Given the description of an element on the screen output the (x, y) to click on. 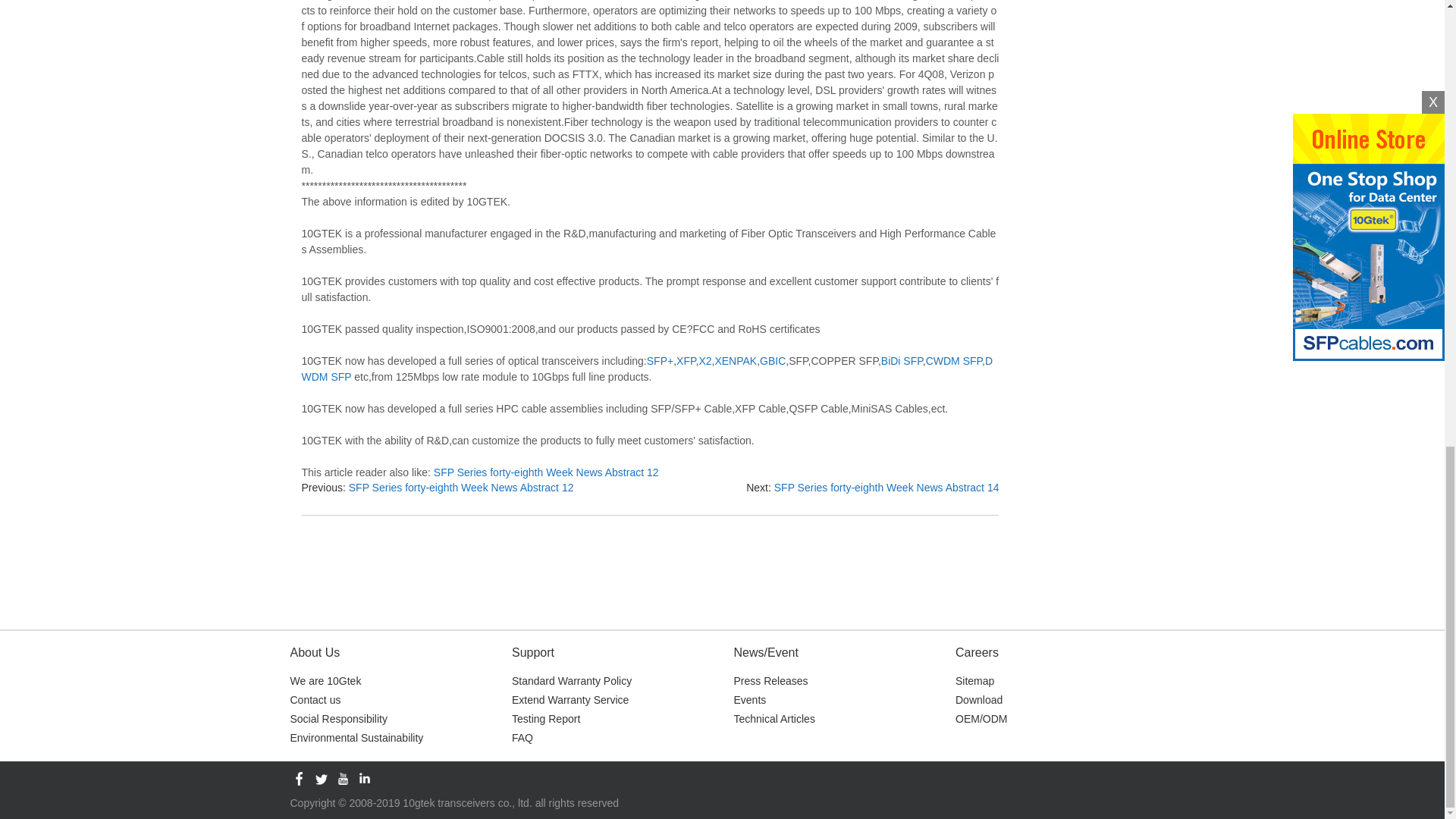
XFP (686, 360)
GBIC (773, 360)
X2 (704, 360)
BiDi SFP (901, 360)
XENPAK (735, 360)
